Given the description of an element on the screen output the (x, y) to click on. 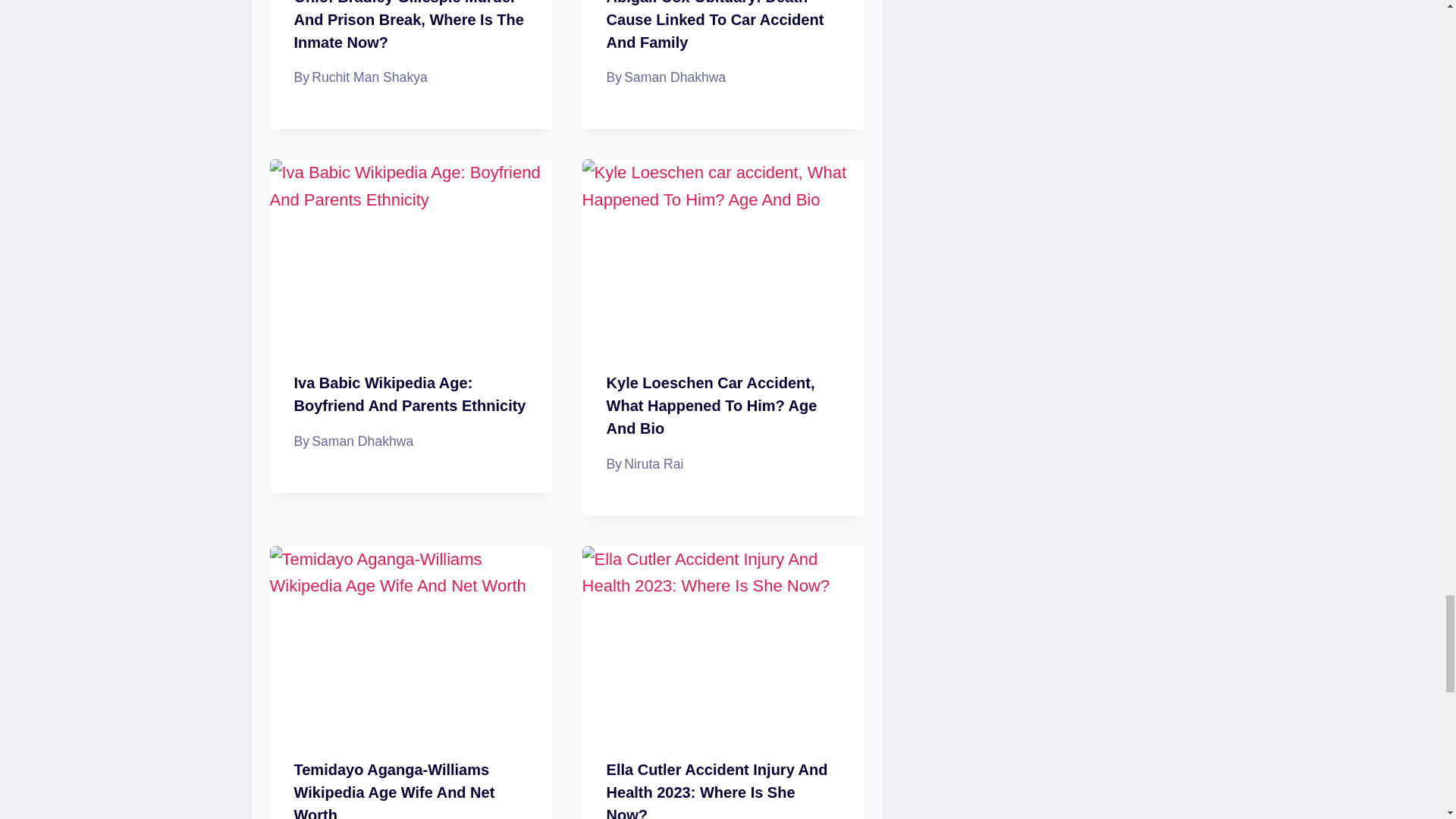
Saman Dhakhwa (674, 77)
Ruchit Man Shakya (369, 77)
